Given the description of an element on the screen output the (x, y) to click on. 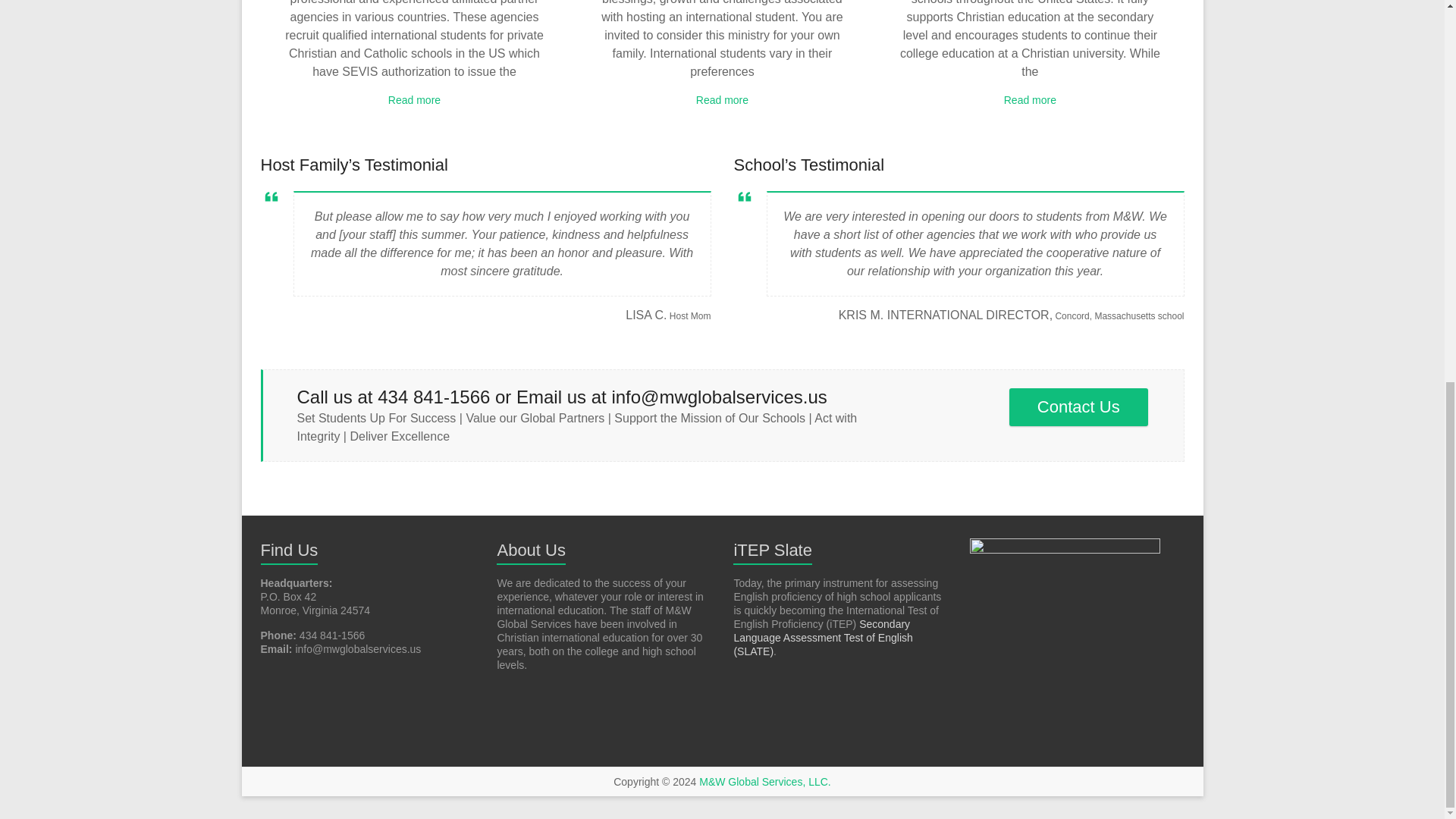
Read more (1030, 100)
Read more (414, 100)
College Recommendation (1030, 100)
Read more (721, 100)
Introduction and Welcome (721, 100)
International Student Placement (414, 100)
Contact Us (1078, 406)
